Given the description of an element on the screen output the (x, y) to click on. 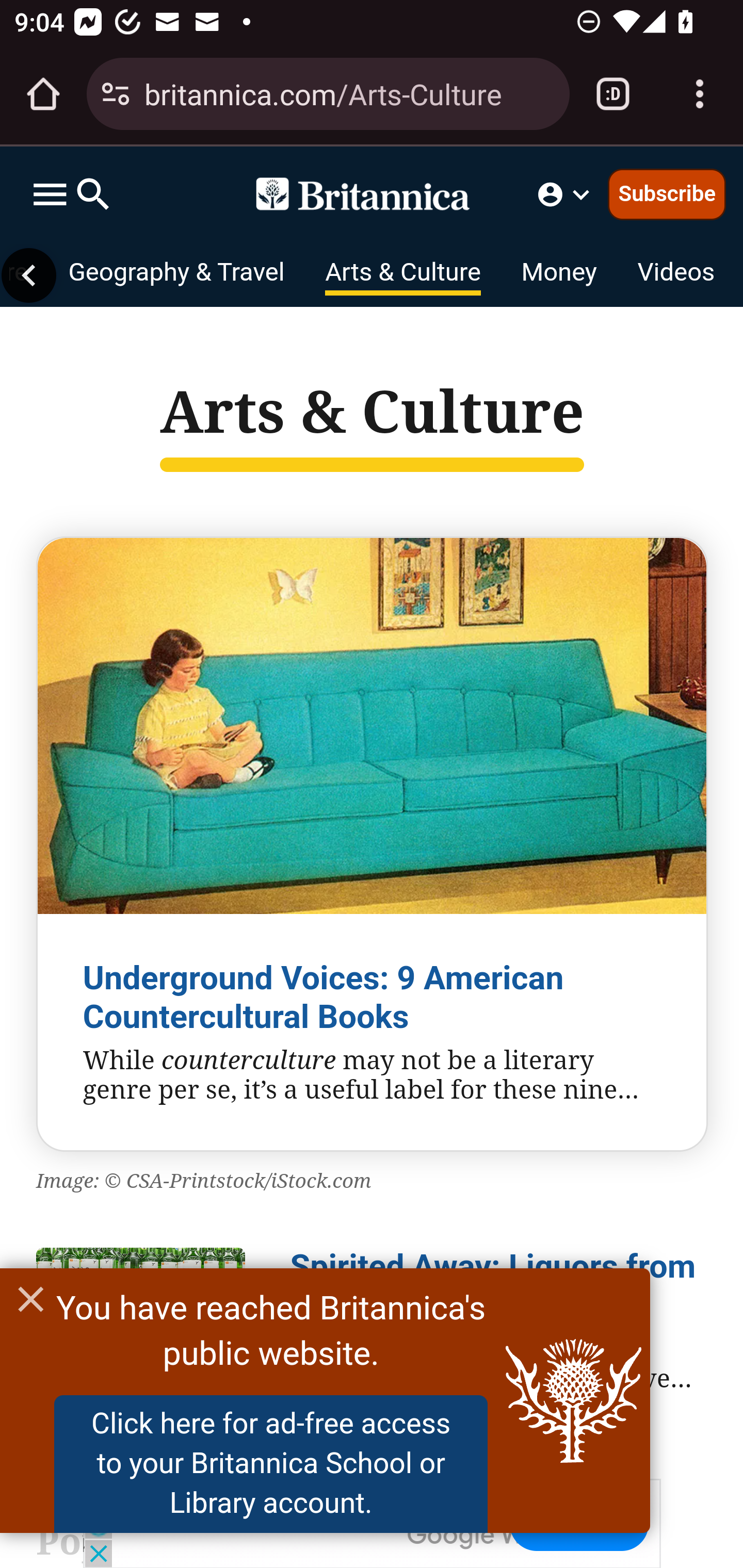
Open the home page (43, 93)
Connection is secure (115, 93)
Switch or close tabs (612, 93)
Customize and control Google Chrome (699, 93)
britannica.com/Arts-Culture (349, 92)
menu search (71, 194)
account_circle keyboard_arrow_down (565, 194)
Subscribe (667, 193)
Encyclopedia Britannica (371, 194)
Previous (28, 275)
Geography & Travel (175, 275)
Arts & Culture (403, 275)
Money (558, 275)
Videos (676, 275)
Girl Reading On Turquoise Couch (372, 726)
Spirited Away: Liquors from Around the World (492, 1285)
